Given the description of an element on the screen output the (x, y) to click on. 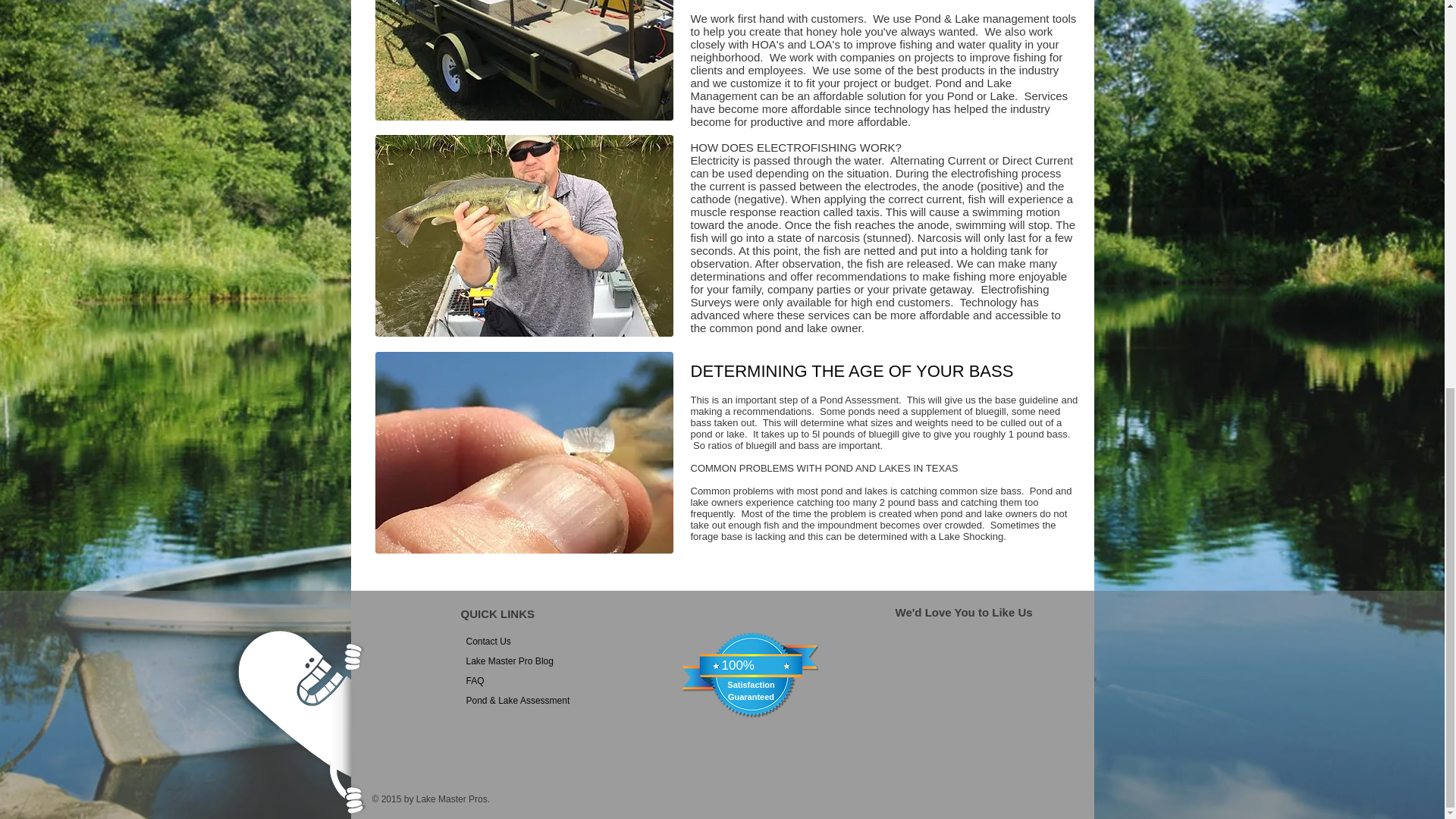
AGING BASS.jpeg (523, 452)
ELECTROFISHING BOAT.jpeg (523, 61)
ELECTROFISHING LAKE.jpeg (523, 235)
